Given the description of an element on the screen output the (x, y) to click on. 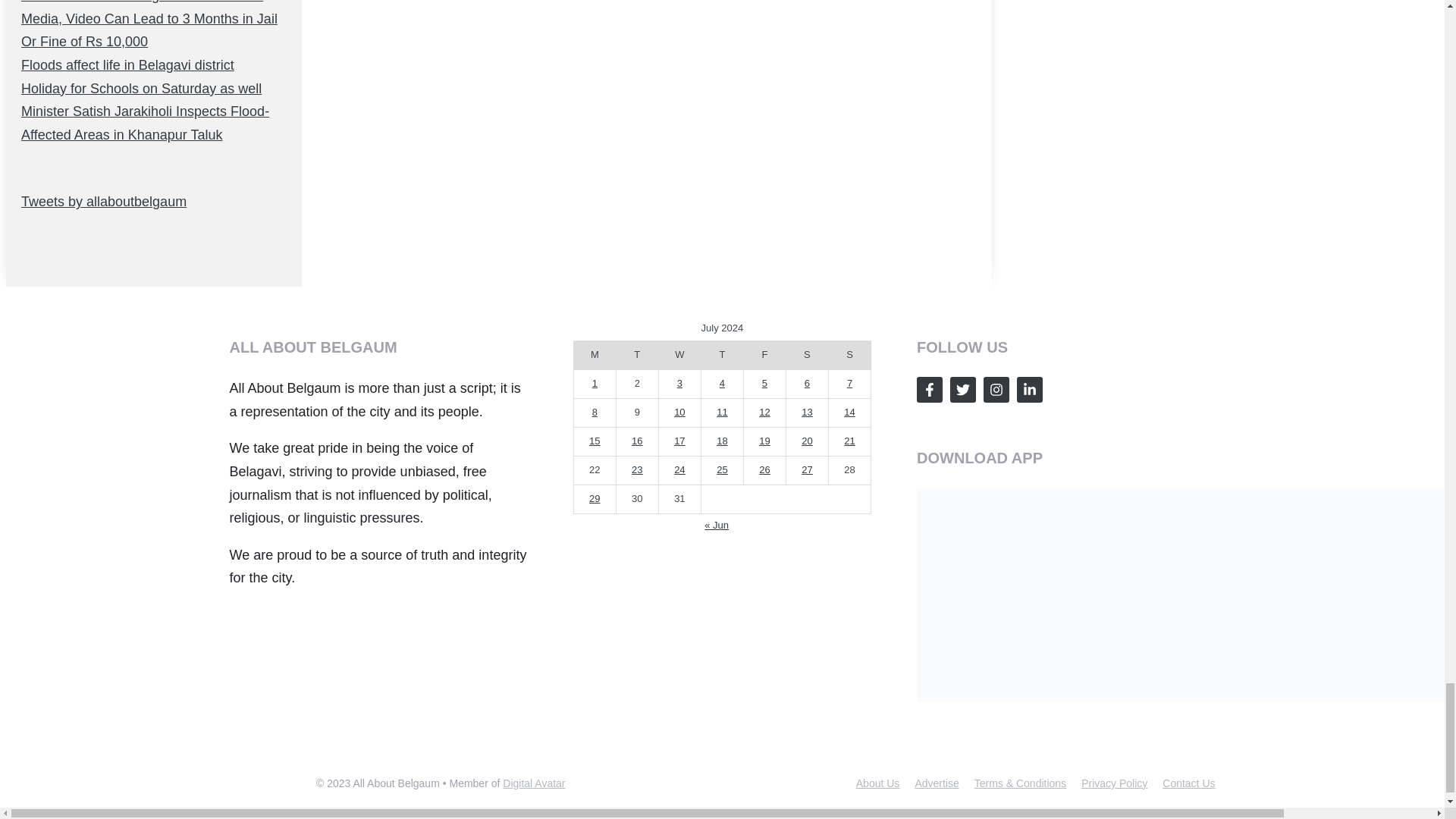
Friday (764, 354)
Wednesday (679, 354)
Tuesday (636, 354)
Thursday (721, 354)
Monday (594, 354)
Saturday (807, 354)
